Given the description of an element on the screen output the (x, y) to click on. 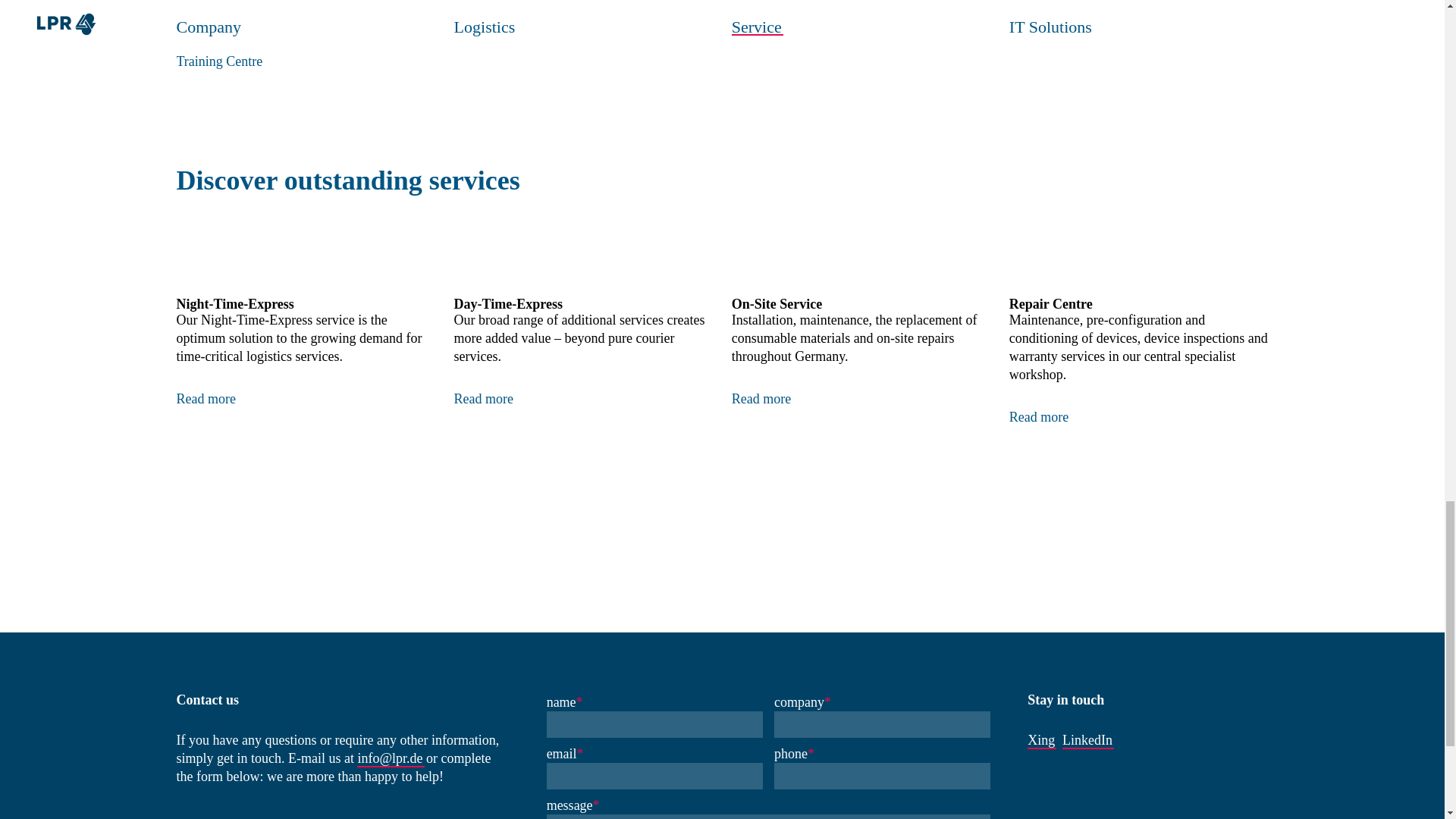
Read more (1038, 404)
Xing (1040, 740)
Read more (761, 386)
Read more (483, 386)
LinkedIn (1087, 740)
Read more (205, 386)
